Given the description of an element on the screen output the (x, y) to click on. 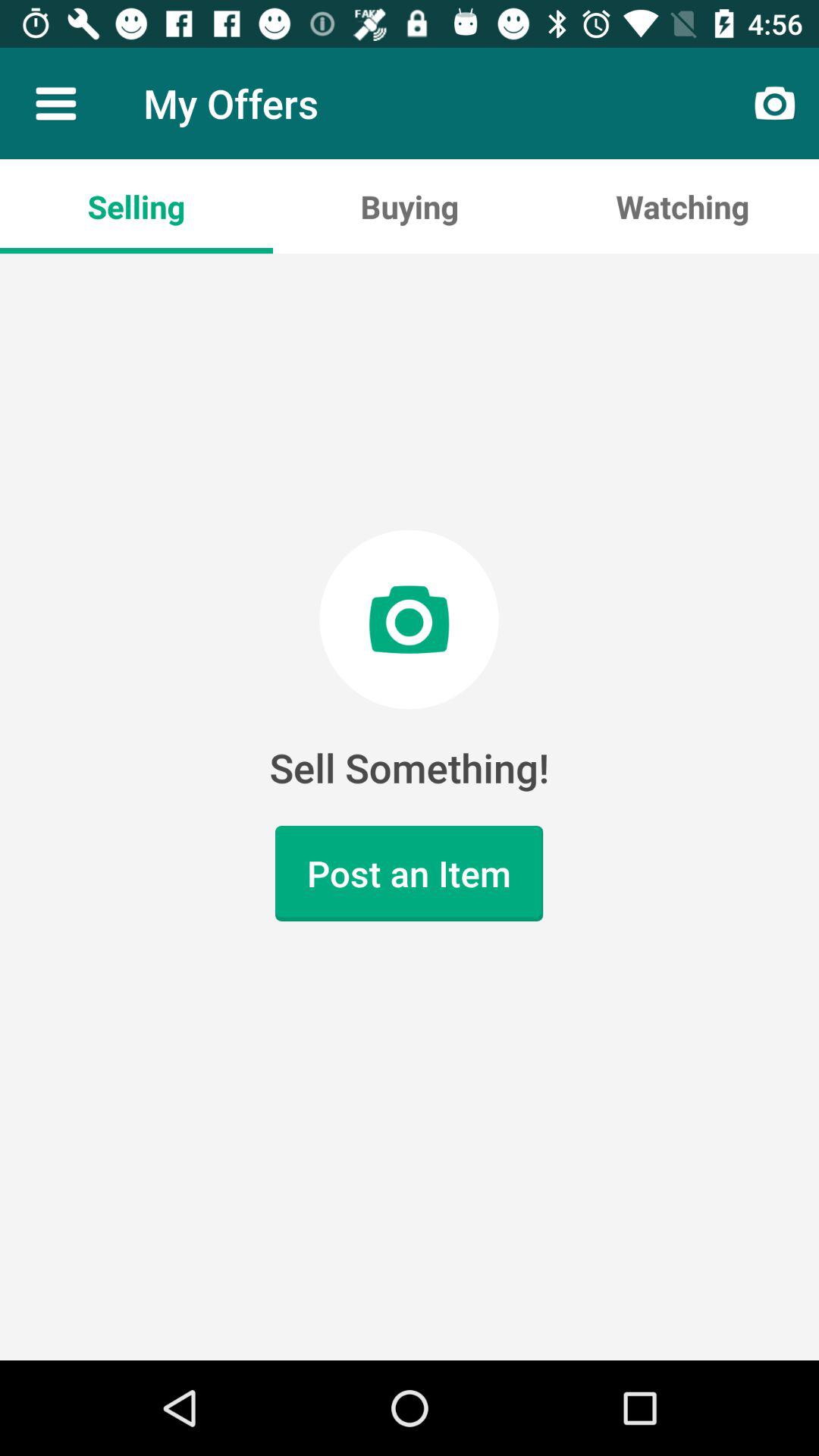
turn off app to the right of selling icon (409, 206)
